Given the description of an element on the screen output the (x, y) to click on. 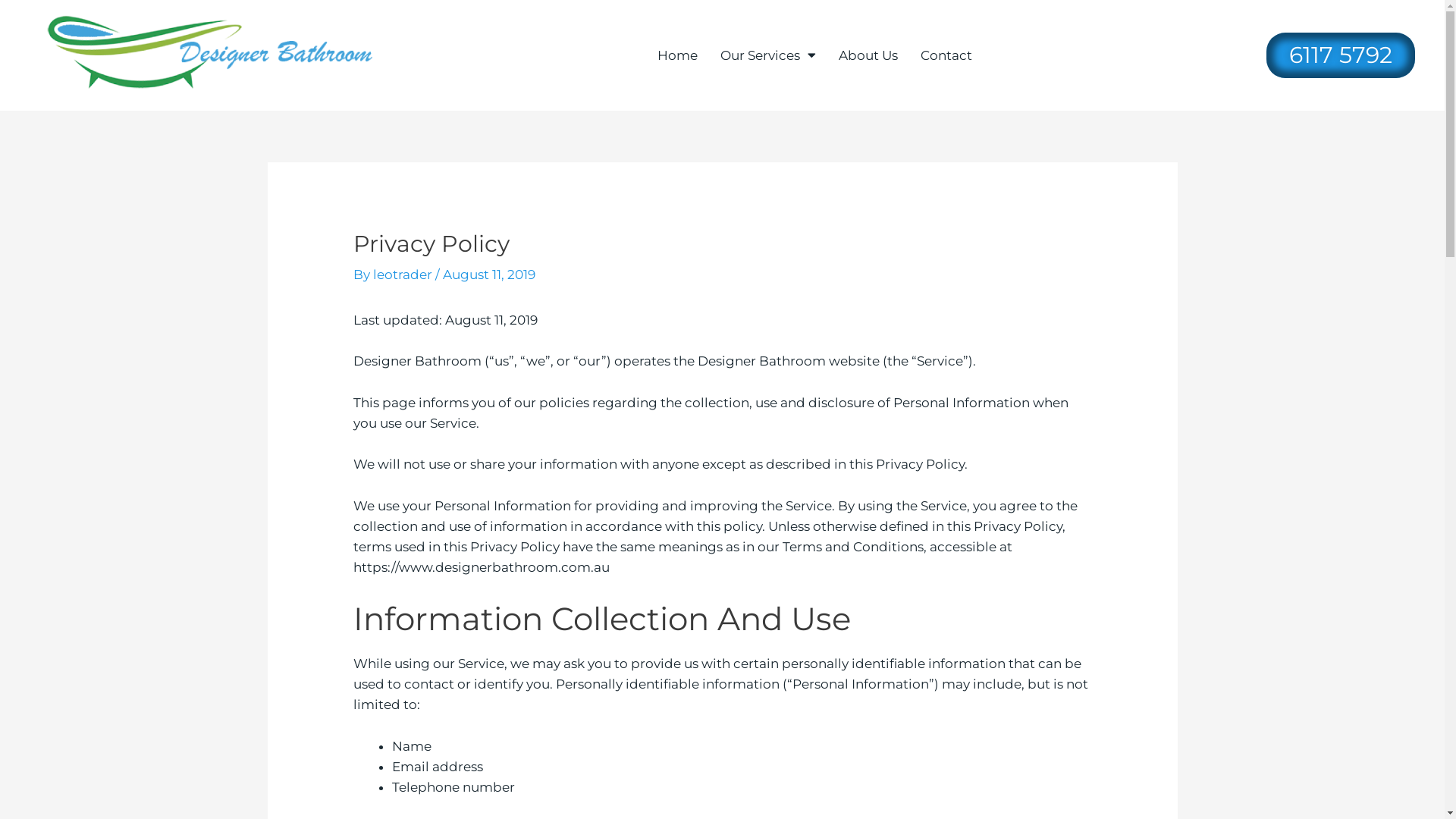
Contact Element type: text (946, 54)
6117 5792 Element type: text (1340, 55)
Home Element type: text (677, 54)
About Us Element type: text (868, 54)
leotrader Element type: text (404, 274)
Our Services Element type: text (768, 54)
Designer Bathroom Element type: hover (215, 55)
